Given the description of an element on the screen output the (x, y) to click on. 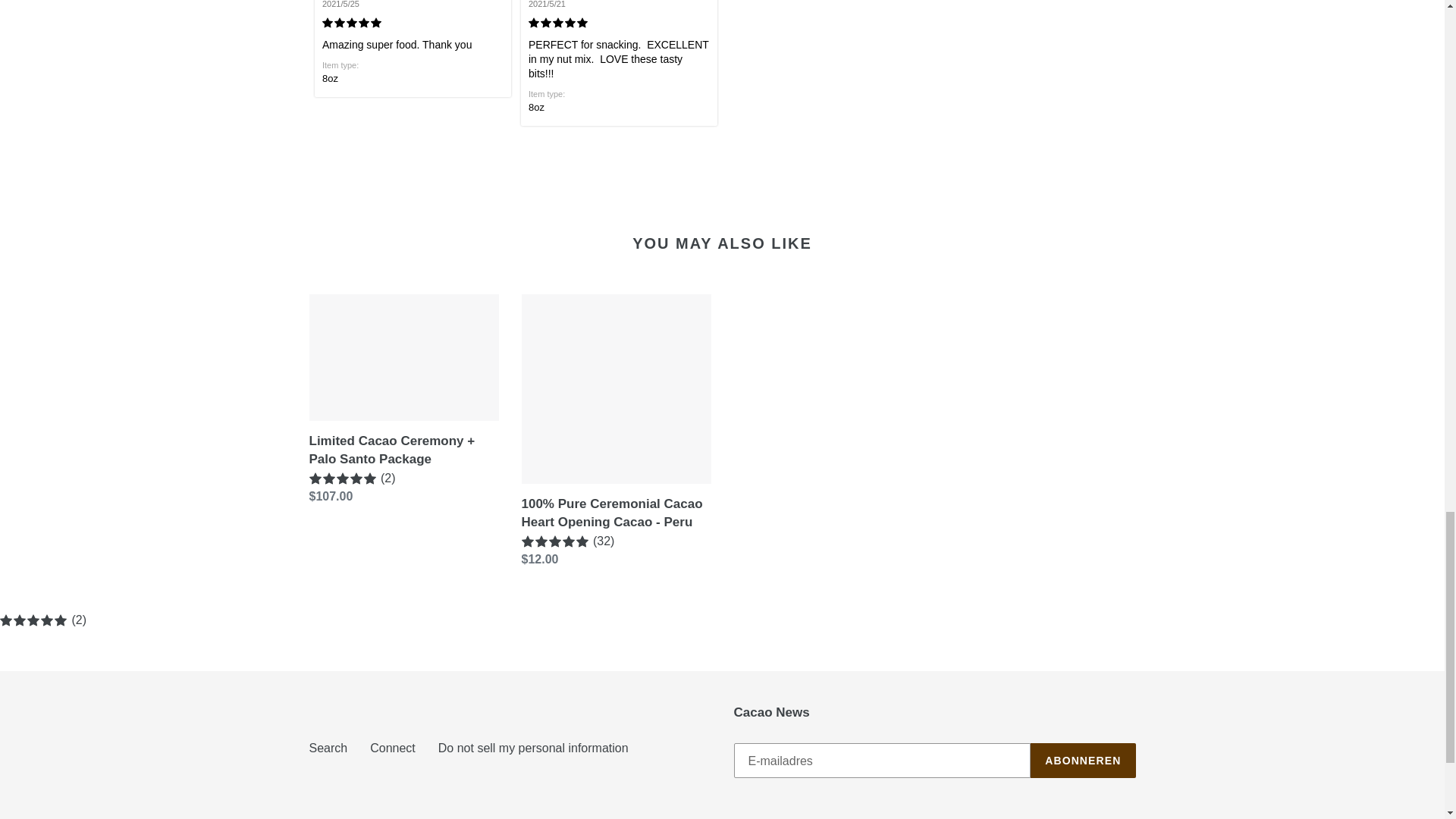
Connect (391, 748)
Search (327, 748)
